Given the description of an element on the screen output the (x, y) to click on. 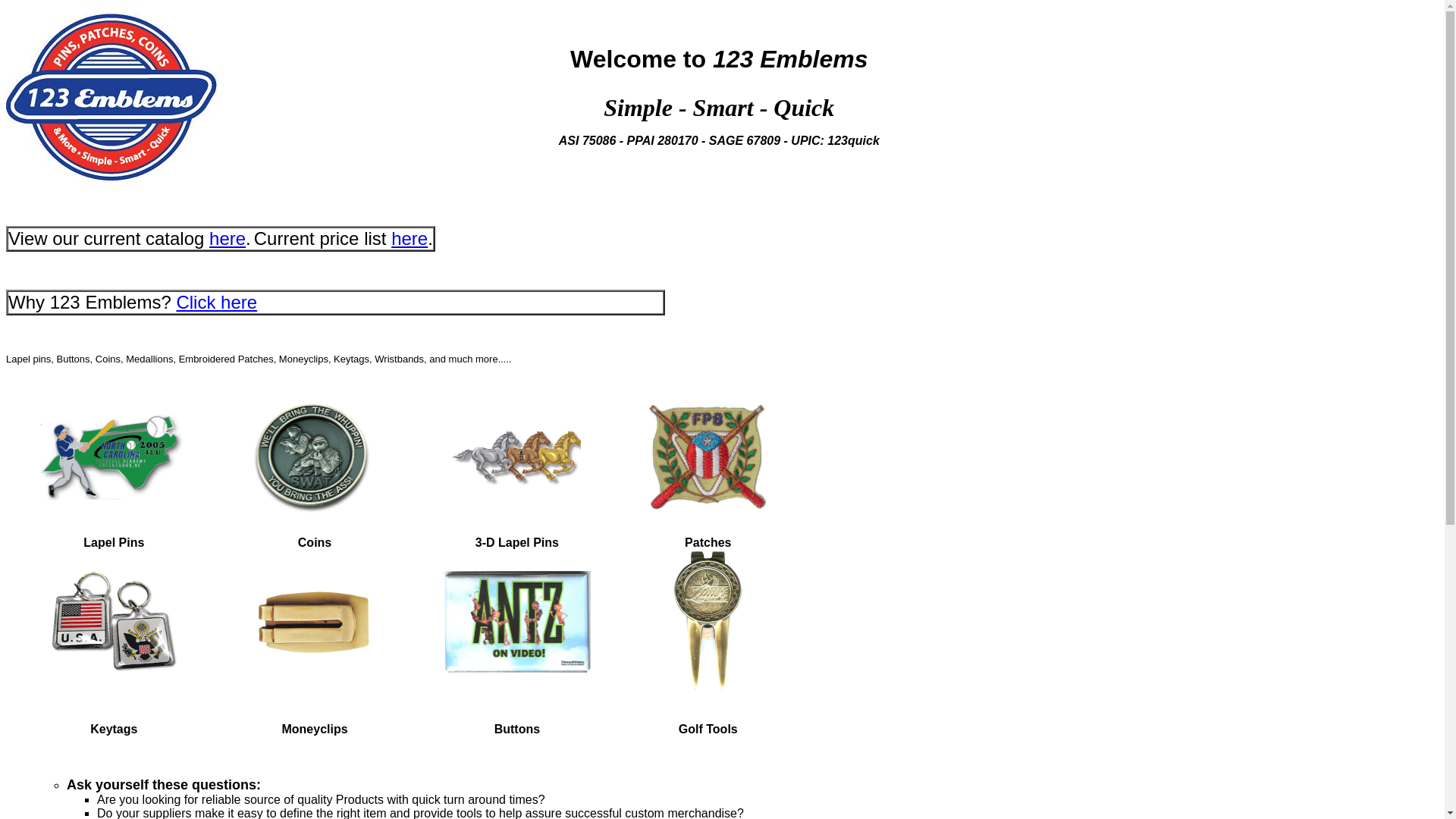
Click here Element type: text (216, 301)
here Element type: text (227, 238)
here Element type: text (409, 238)
